Given the description of an element on the screen output the (x, y) to click on. 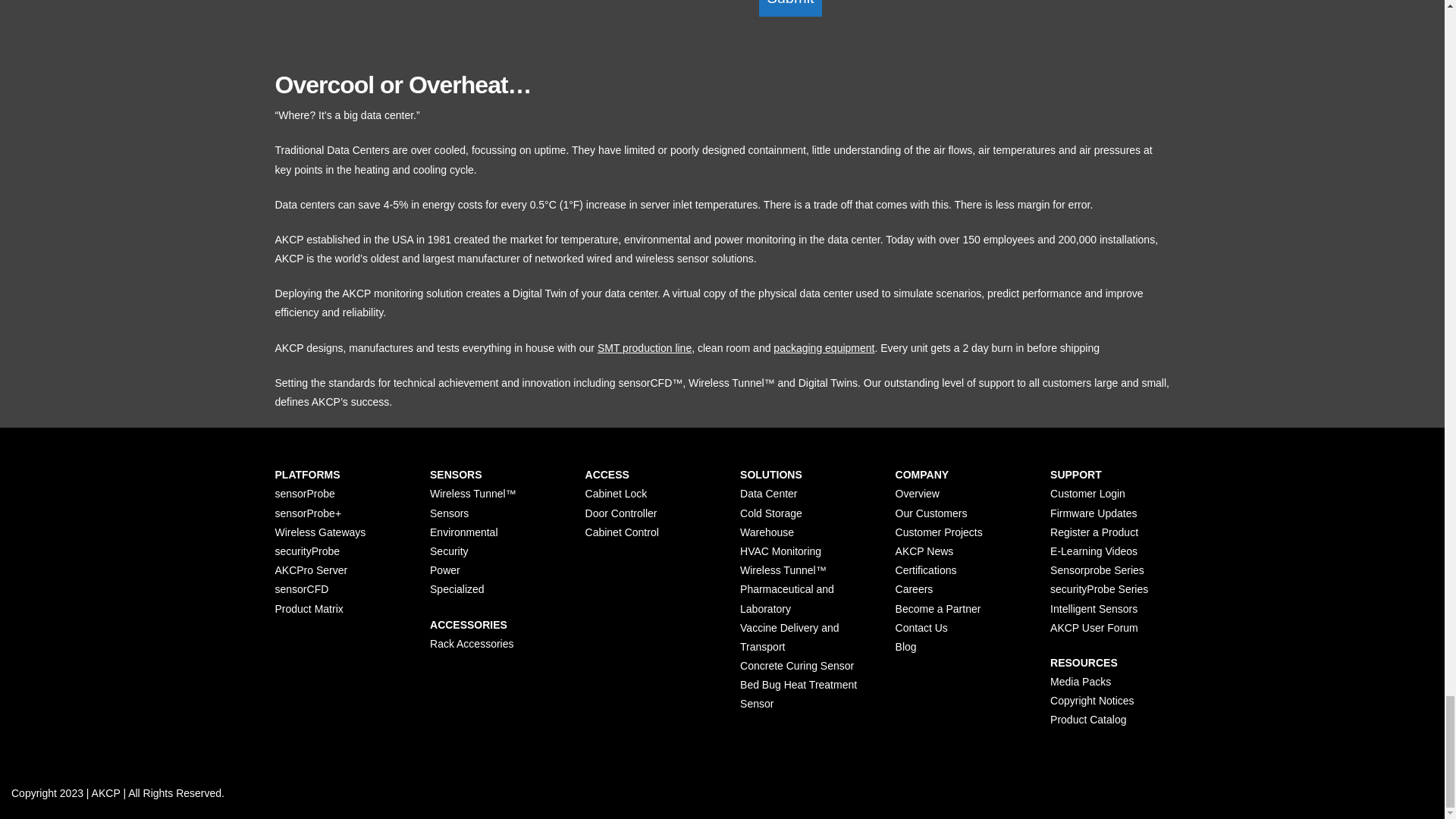
Submit (789, 8)
network enabled temperature sensor monitoring (105, 793)
